Given the description of an element on the screen output the (x, y) to click on. 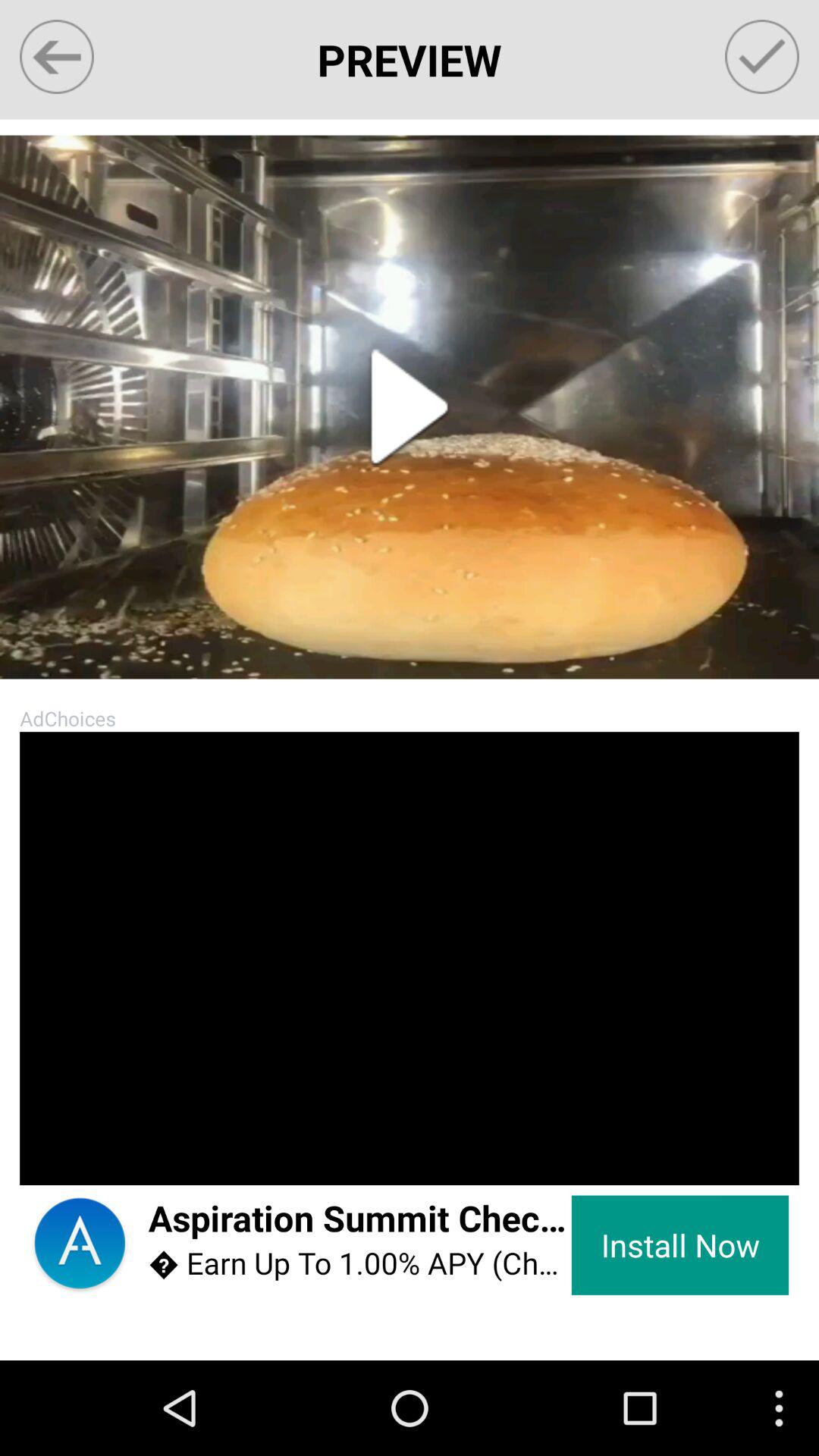
turn off button next to install now icon (359, 1219)
